Given the description of an element on the screen output the (x, y) to click on. 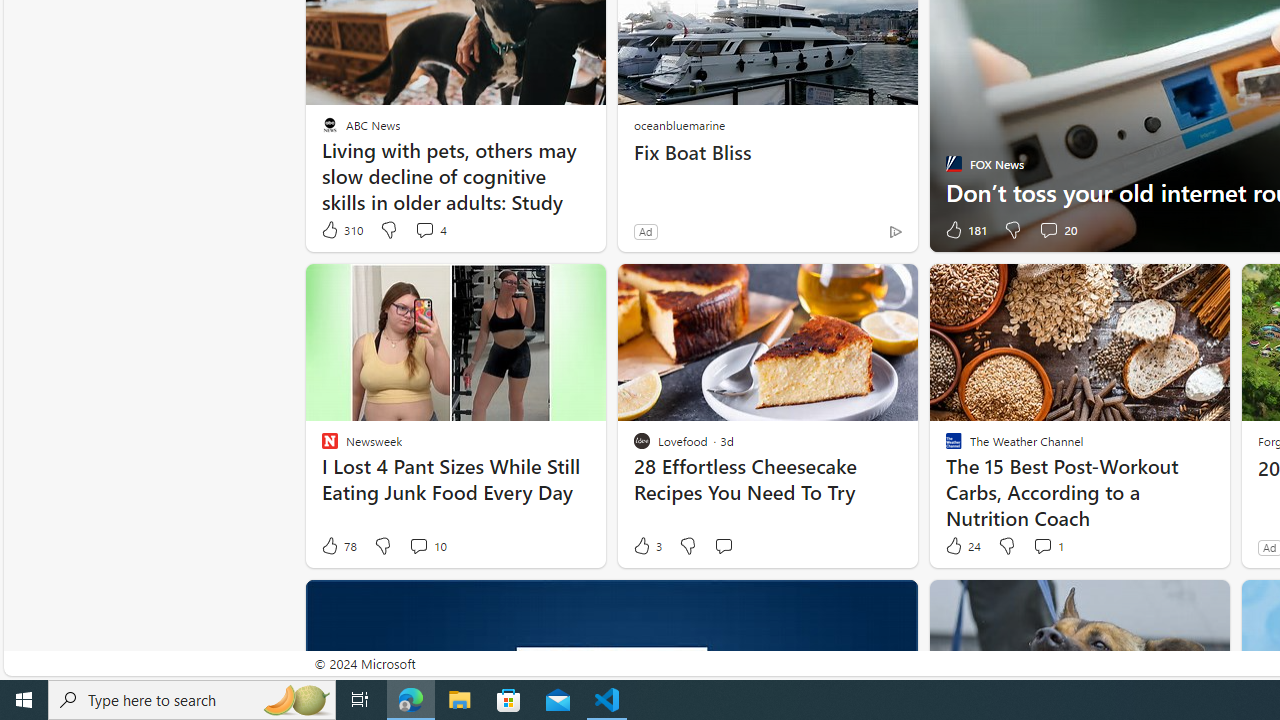
View comments 20 Comment (1048, 229)
24 Like (961, 546)
View comments 10 Comment (426, 546)
78 Like (337, 546)
View comments 10 Comment (418, 545)
View comments 20 Comment (1057, 230)
Hide this story (1169, 603)
